Given the description of an element on the screen output the (x, y) to click on. 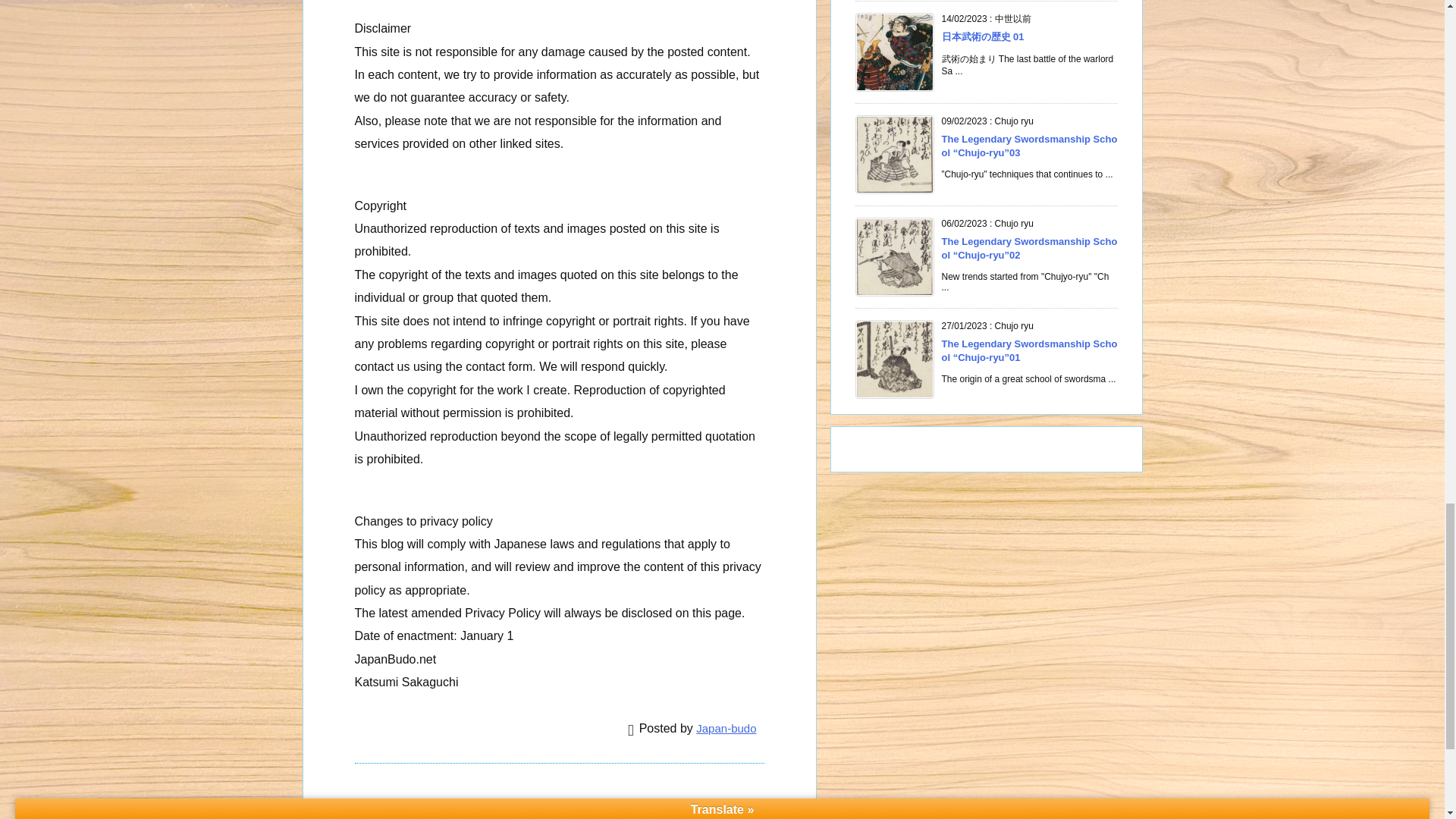
Japan-budo (725, 727)
